Given the description of an element on the screen output the (x, y) to click on. 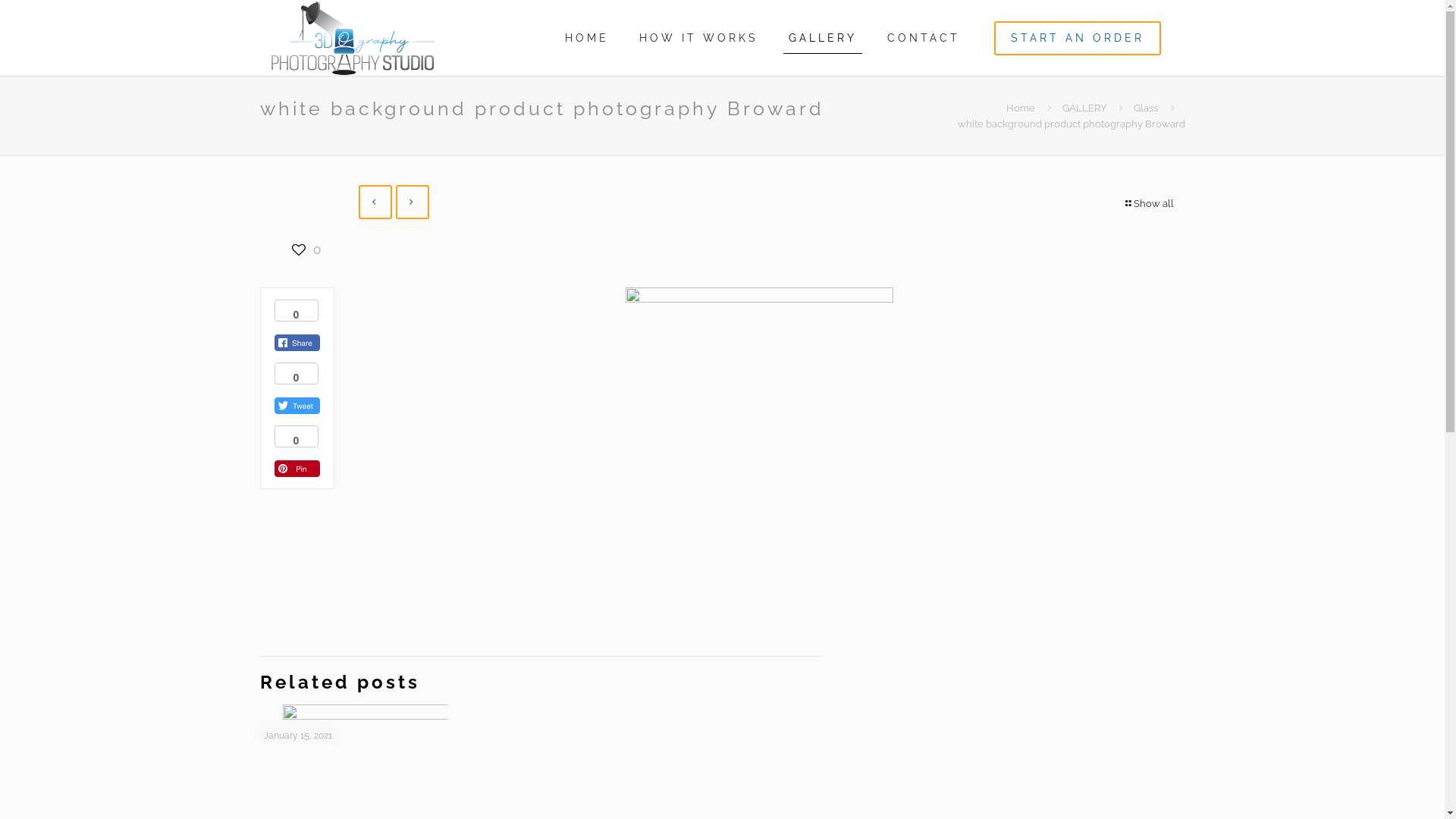
START AN ORDER Element type: text (1076, 38)
HOW IT WORKS Element type: text (697, 37)
HOME Element type: text (586, 37)
Home Element type: text (1019, 107)
CONTACT Element type: text (923, 37)
GALLERY Element type: text (822, 37)
0 Element type: text (305, 249)
white background product photography Broward Element type: text (1070, 123)
Glass Element type: text (1144, 107)
GALLERY Element type: text (1083, 107)
Show all Element type: text (1148, 203)
